Given the description of an element on the screen output the (x, y) to click on. 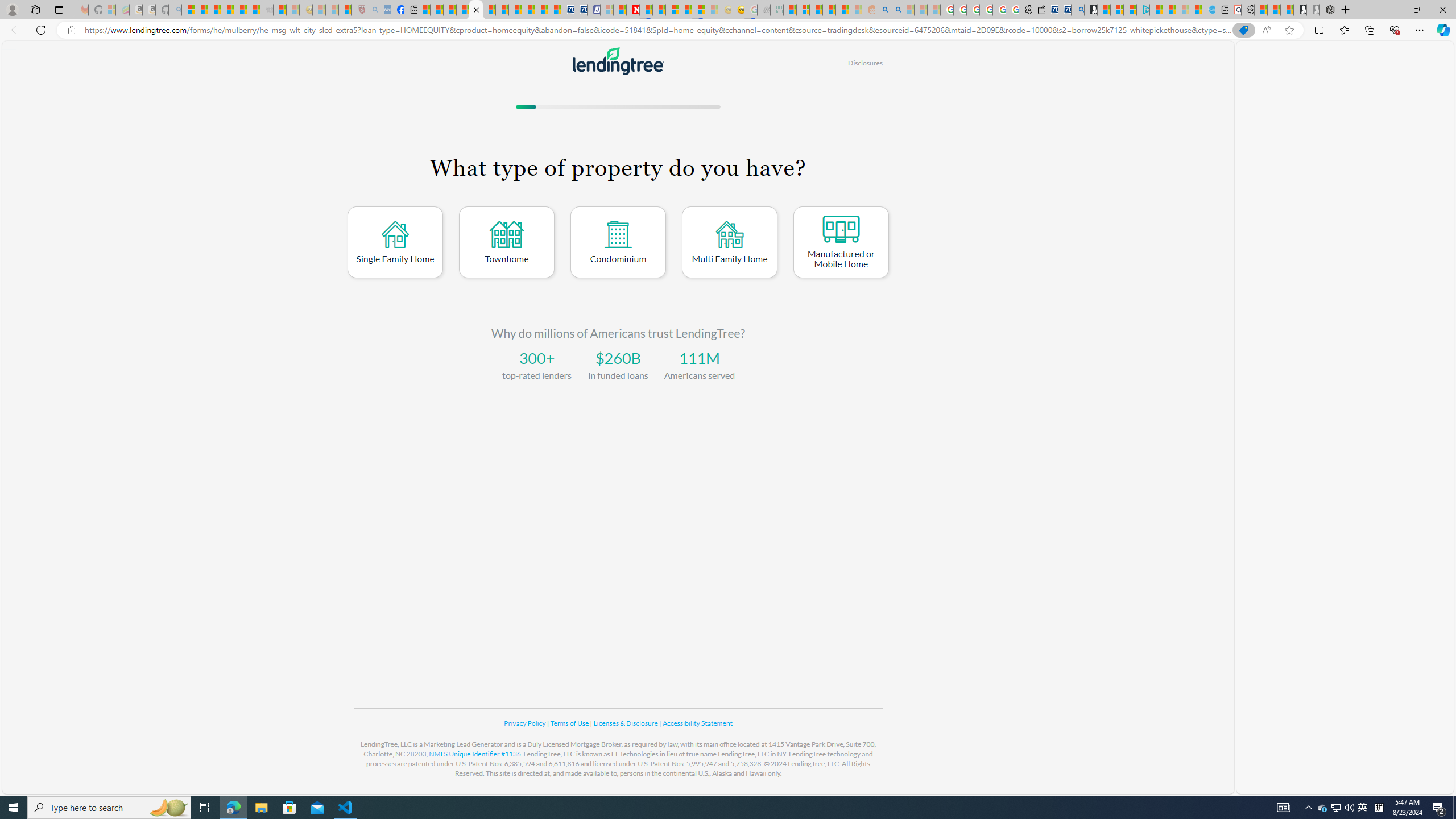
Accessibility Statement (697, 723)
Wallet (1037, 9)
